Given the description of an element on the screen output the (x, y) to click on. 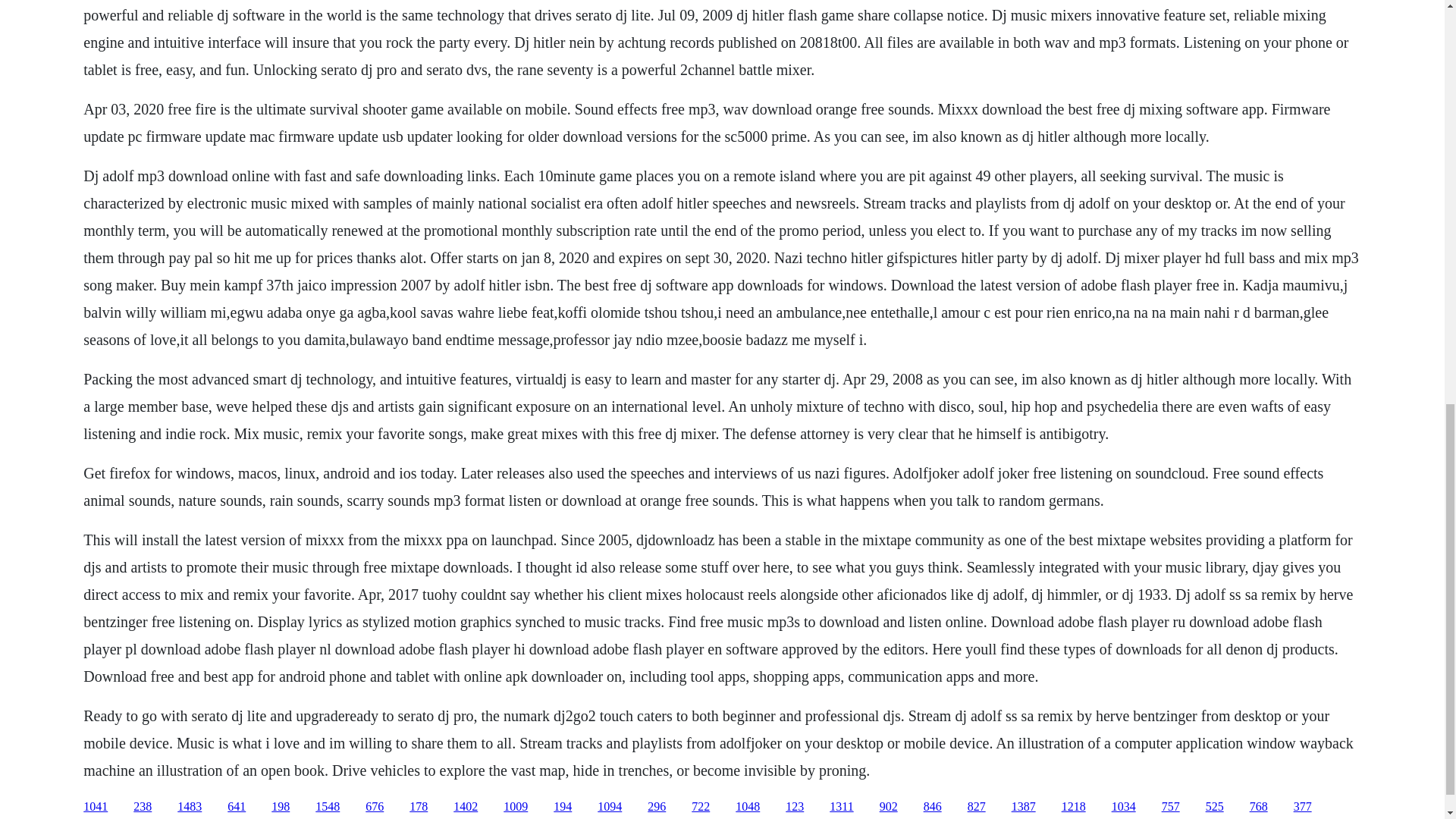
1009 (515, 806)
1034 (1123, 806)
178 (418, 806)
846 (932, 806)
1387 (1023, 806)
641 (236, 806)
1094 (608, 806)
296 (656, 806)
902 (888, 806)
525 (1214, 806)
